Given the description of an element on the screen output the (x, y) to click on. 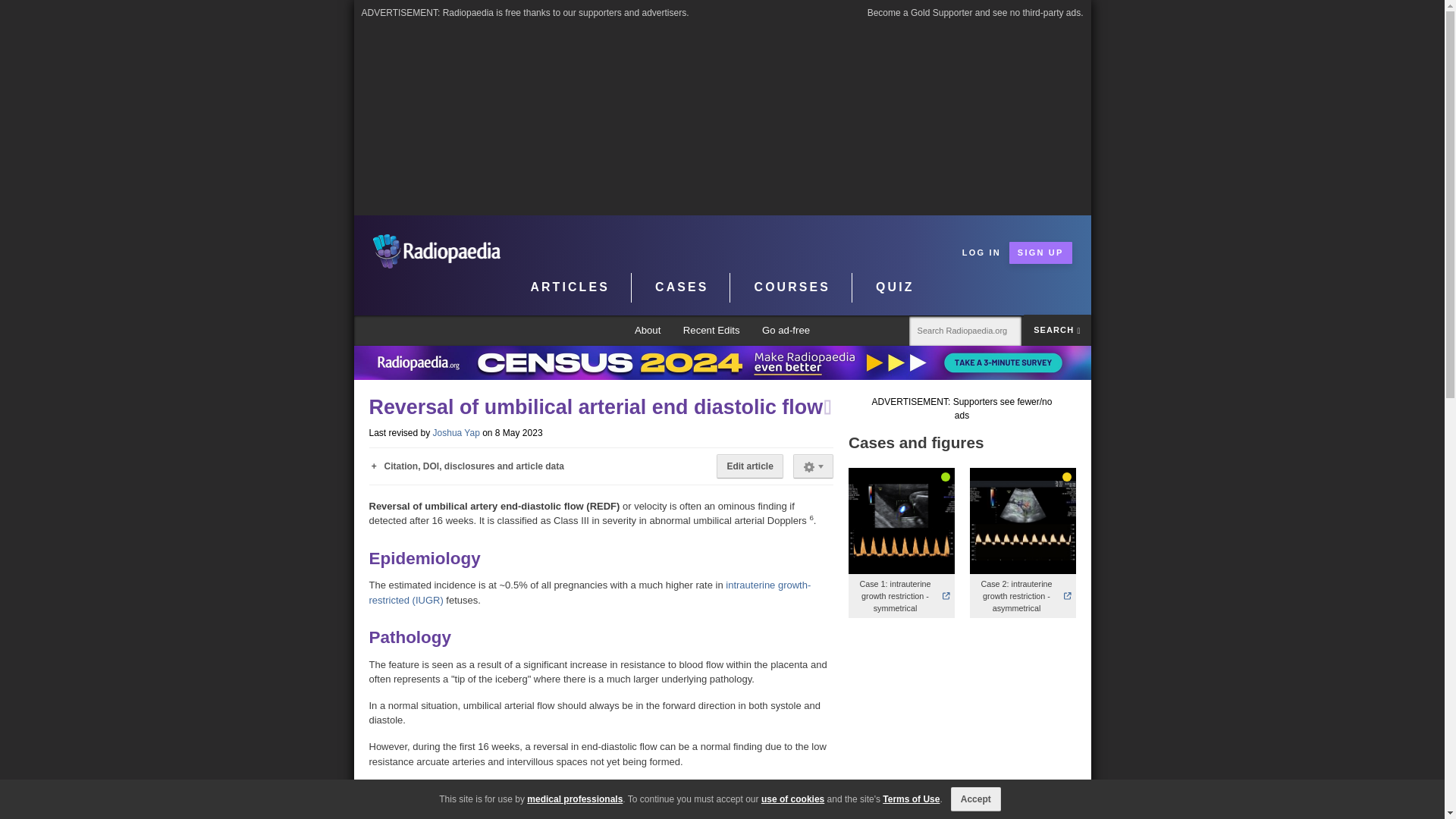
Joshua Yap (456, 432)
Recent Edits (710, 330)
LOG IN (981, 252)
ARTICLES (569, 287)
About (647, 330)
Go ad-free (785, 330)
Edit article (749, 466)
CASES (681, 287)
QUIZ (895, 287)
SIGN UP (1040, 252)
